Given the description of an element on the screen output the (x, y) to click on. 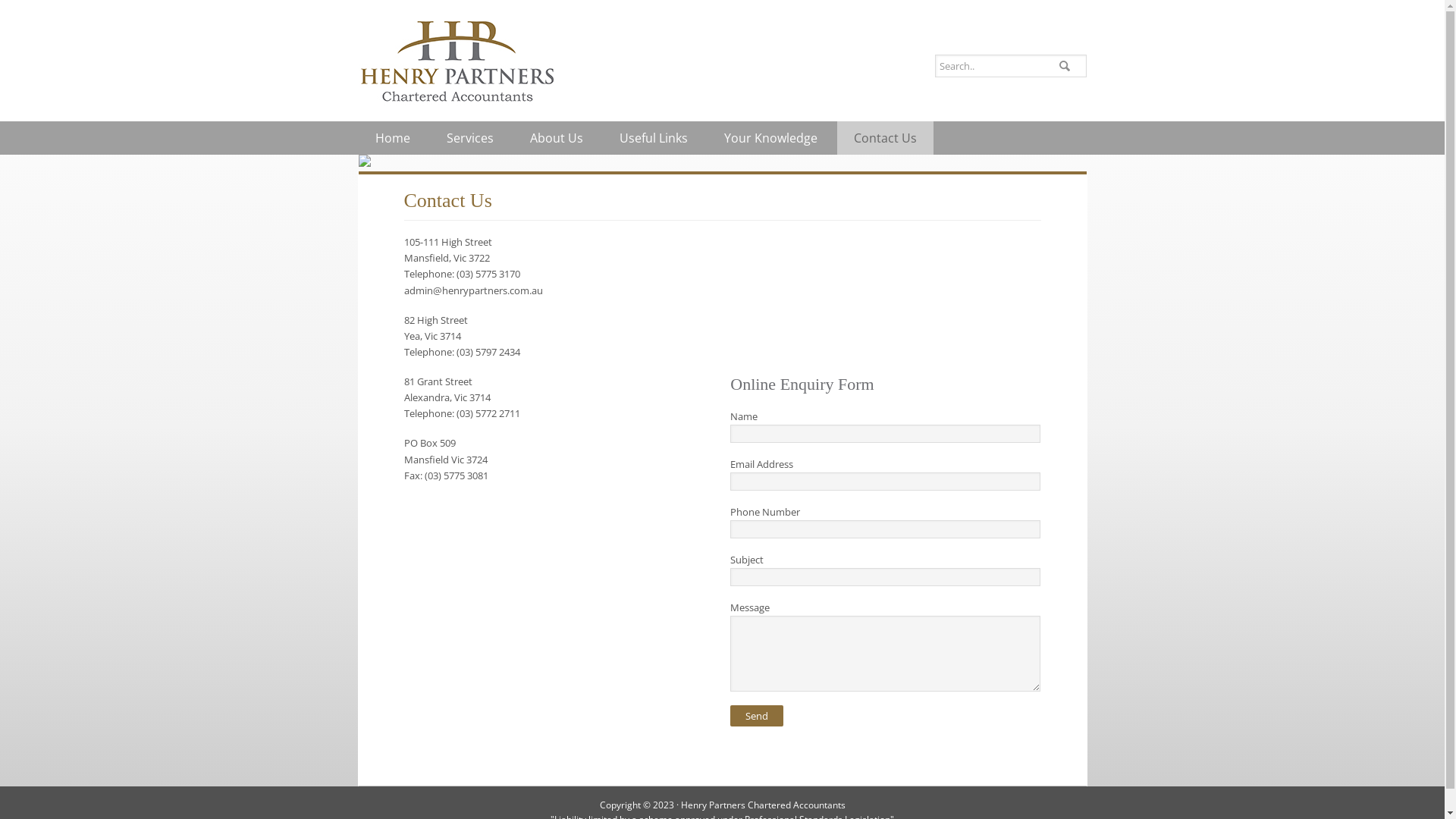
Contact Us Element type: text (885, 137)
About Us Element type: text (555, 137)
Send Element type: text (756, 715)
Henry Partners - Chartered Accountants Element type: text (456, 60)
Services Element type: text (469, 137)
Home Element type: text (391, 137)
Your Knowledge Element type: text (769, 137)
Useful Links Element type: text (652, 137)
Search Element type: text (1085, 53)
